Given the description of an element on the screen output the (x, y) to click on. 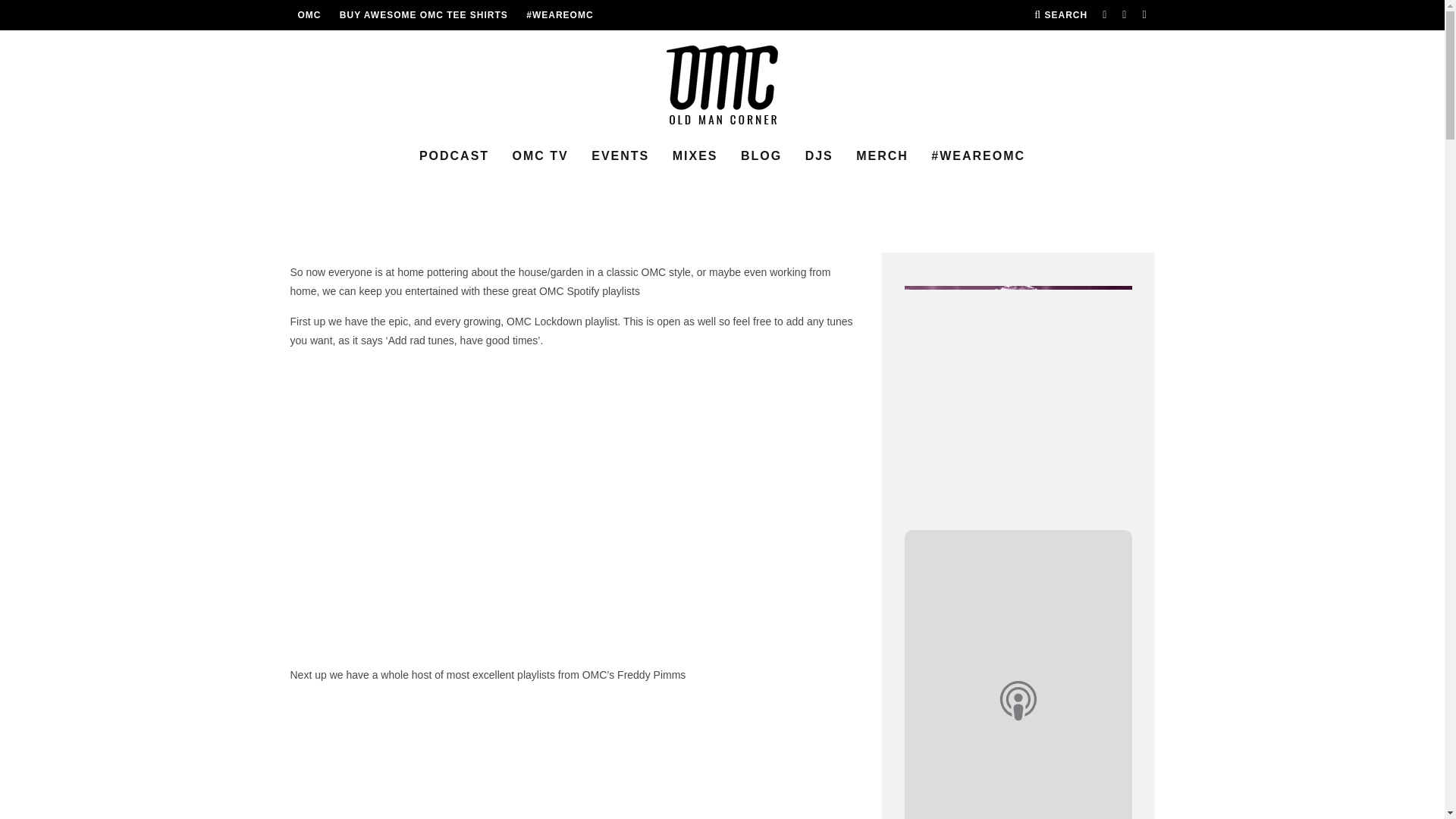
EVENTS (620, 156)
Search (1060, 15)
OMC TV (540, 156)
BUY AWESOME OMC TEE SHIRTS (423, 15)
PODCAST (453, 156)
SEARCH (1060, 15)
